Given the description of an element on the screen output the (x, y) to click on. 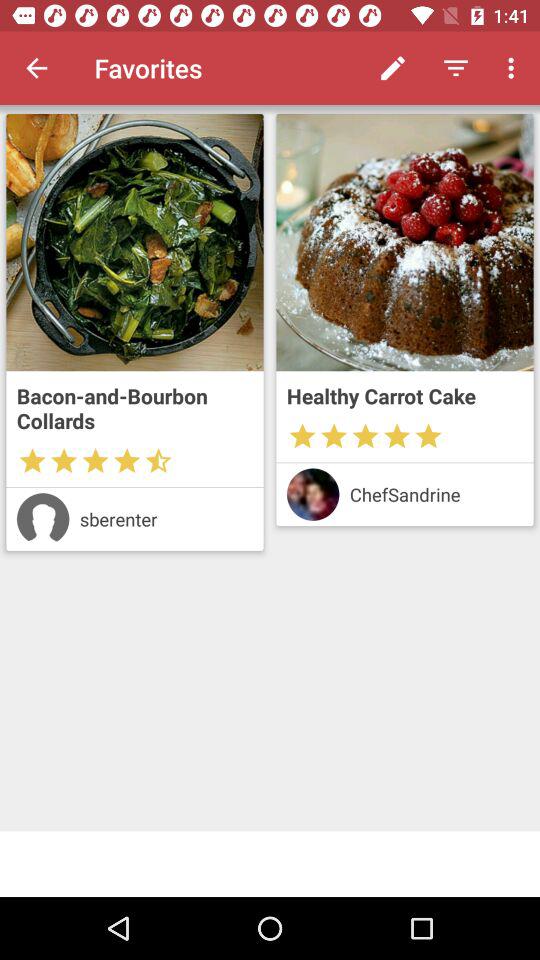
flip to the chefsandrine icon (436, 494)
